Given the description of an element on the screen output the (x, y) to click on. 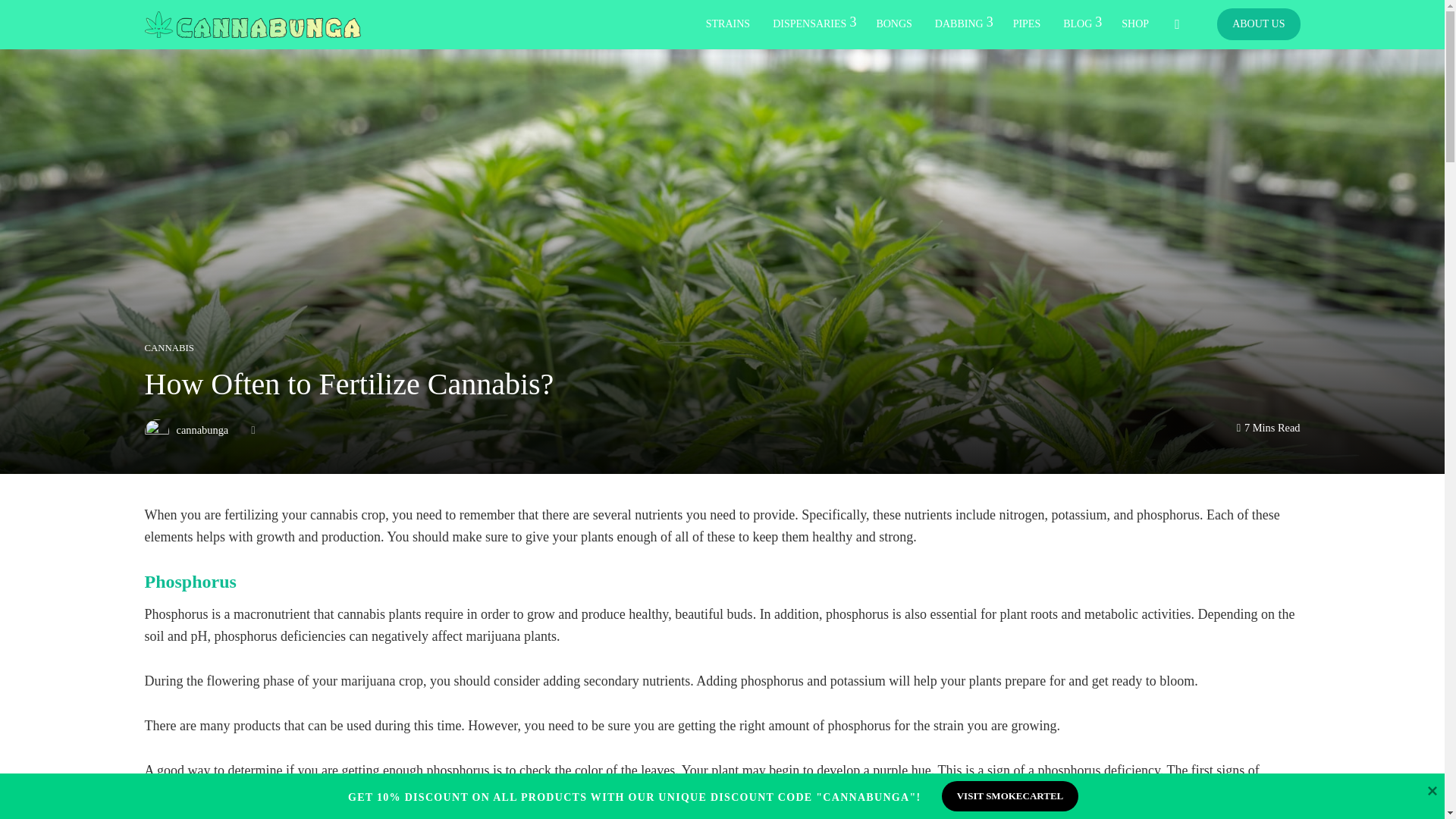
DISPENSARIES (813, 24)
ABOUT US (1258, 24)
STRAINS (727, 24)
BONGS (893, 24)
DABBING (962, 24)
BLOG (1080, 24)
